Given the description of an element on the screen output the (x, y) to click on. 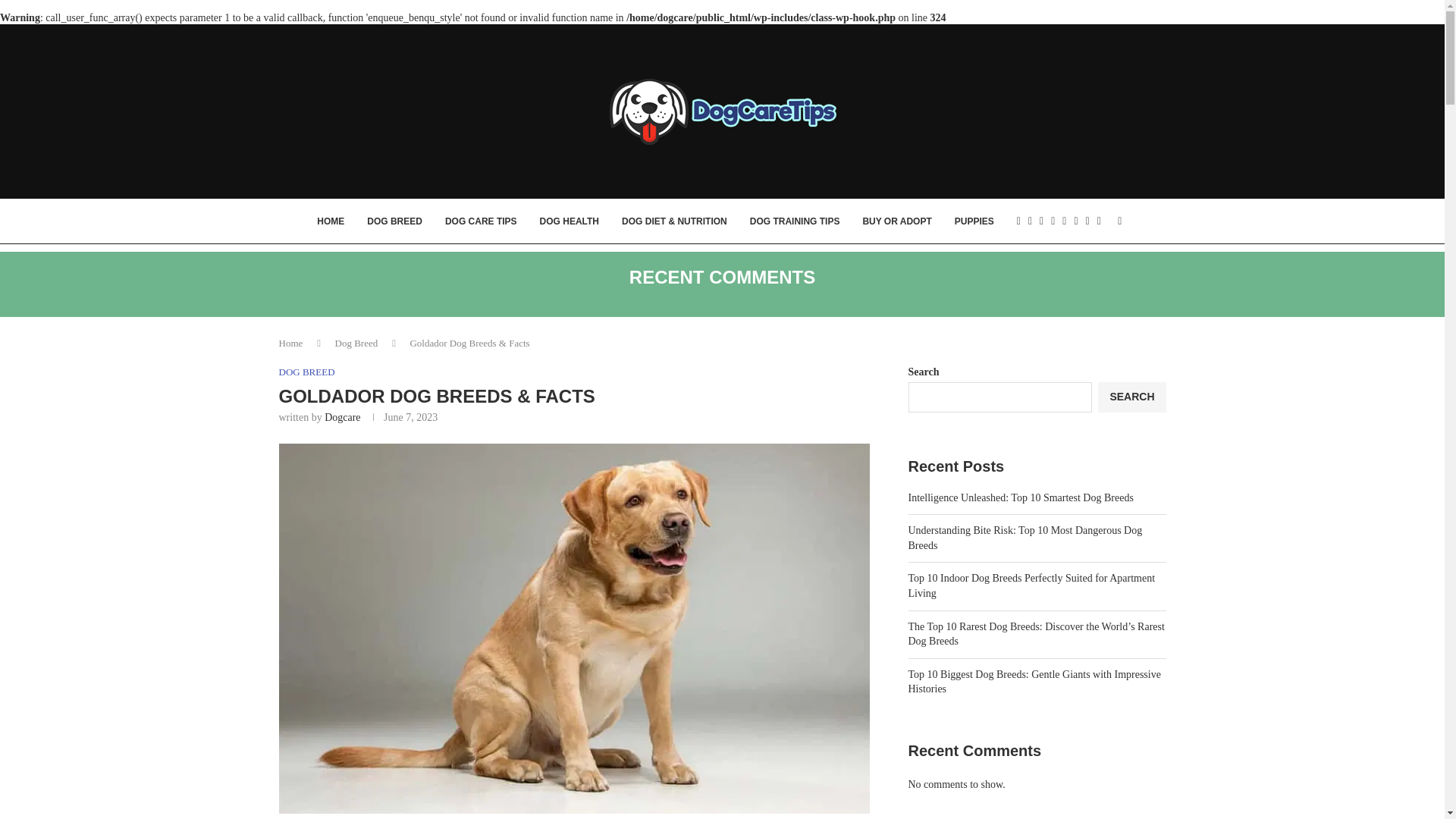
PUPPIES (974, 221)
DOG TRAINING TIPS (794, 221)
Dogcare (341, 417)
DOG CARE TIPS (480, 221)
DOG BREED (306, 372)
BUY OR ADOPT (896, 221)
DOG HEALTH (569, 221)
DOG BREED (394, 221)
Dog Breed (356, 342)
Home (290, 342)
